Given the description of an element on the screen output the (x, y) to click on. 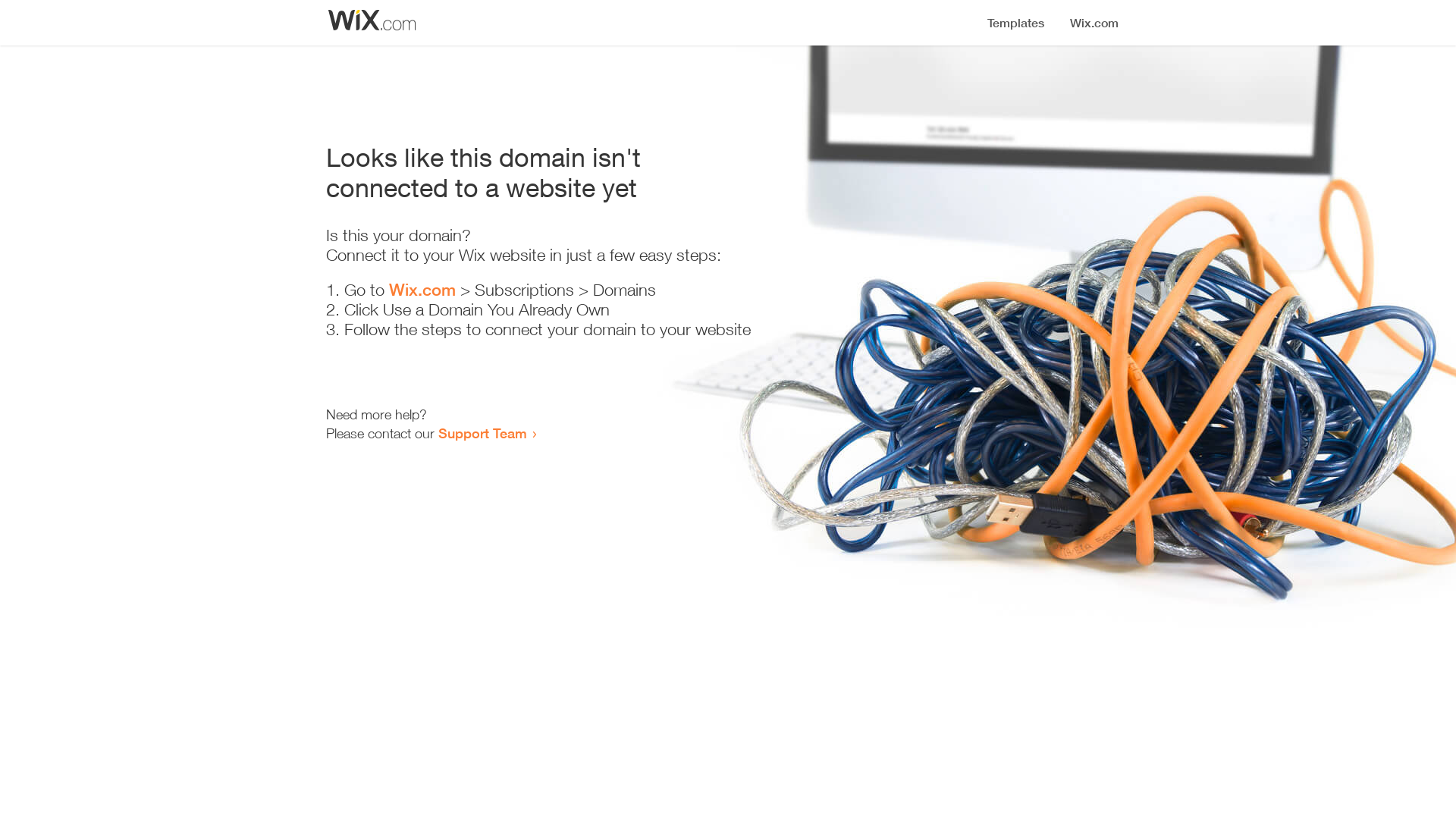
Support Team Element type: text (482, 432)
Wix.com Element type: text (422, 289)
